Given the description of an element on the screen output the (x, y) to click on. 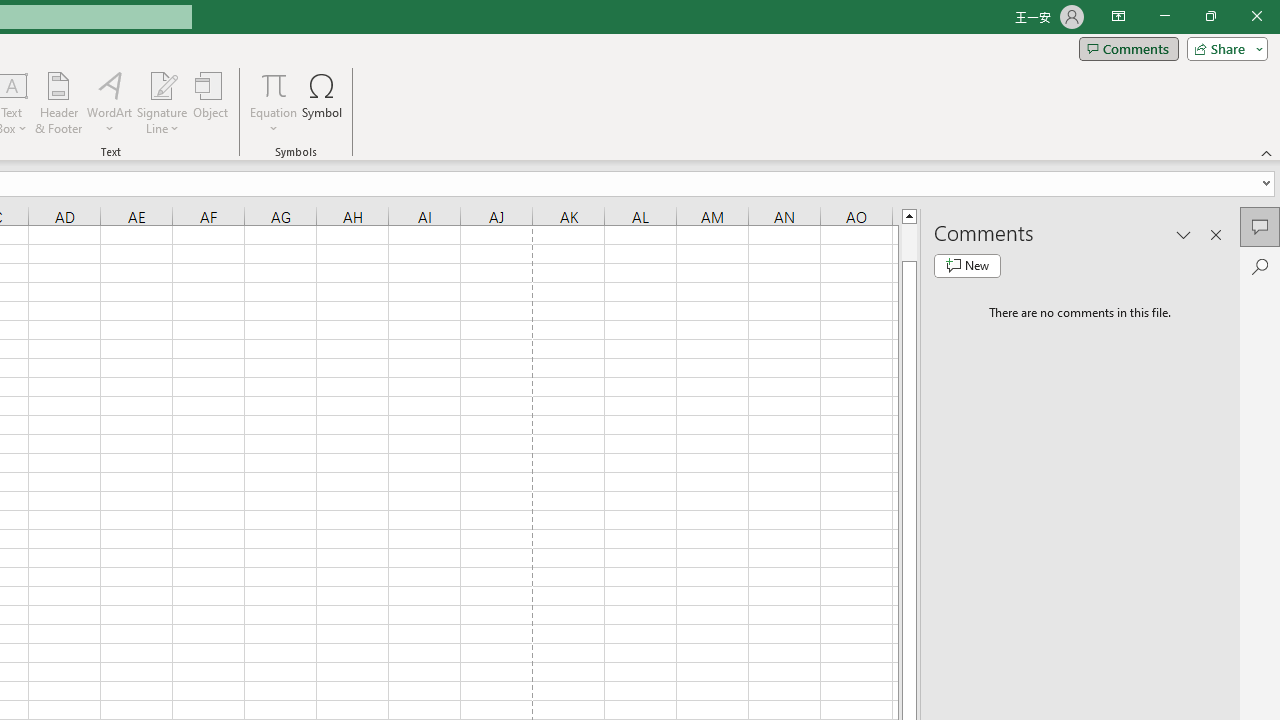
WordArt (109, 102)
Equation (273, 102)
Signature Line (161, 84)
